Given the description of an element on the screen output the (x, y) to click on. 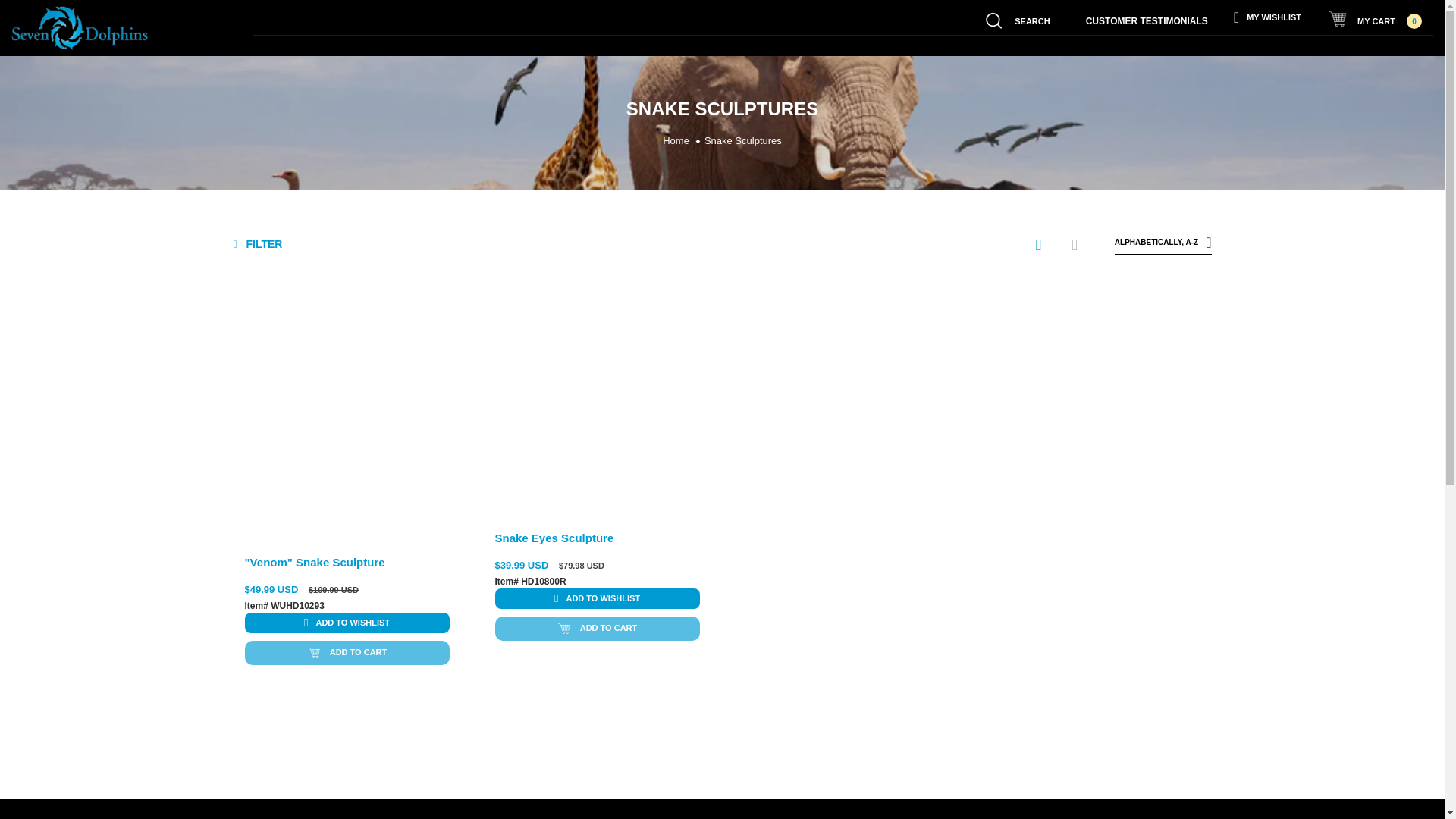
HOME (263, 46)
MY WISHLIST (1268, 17)
Dolphins (316, 47)
DOLPHINS (316, 47)
CUSTOMER TESTIMONIALS (1146, 18)
